Given the description of an element on the screen output the (x, y) to click on. 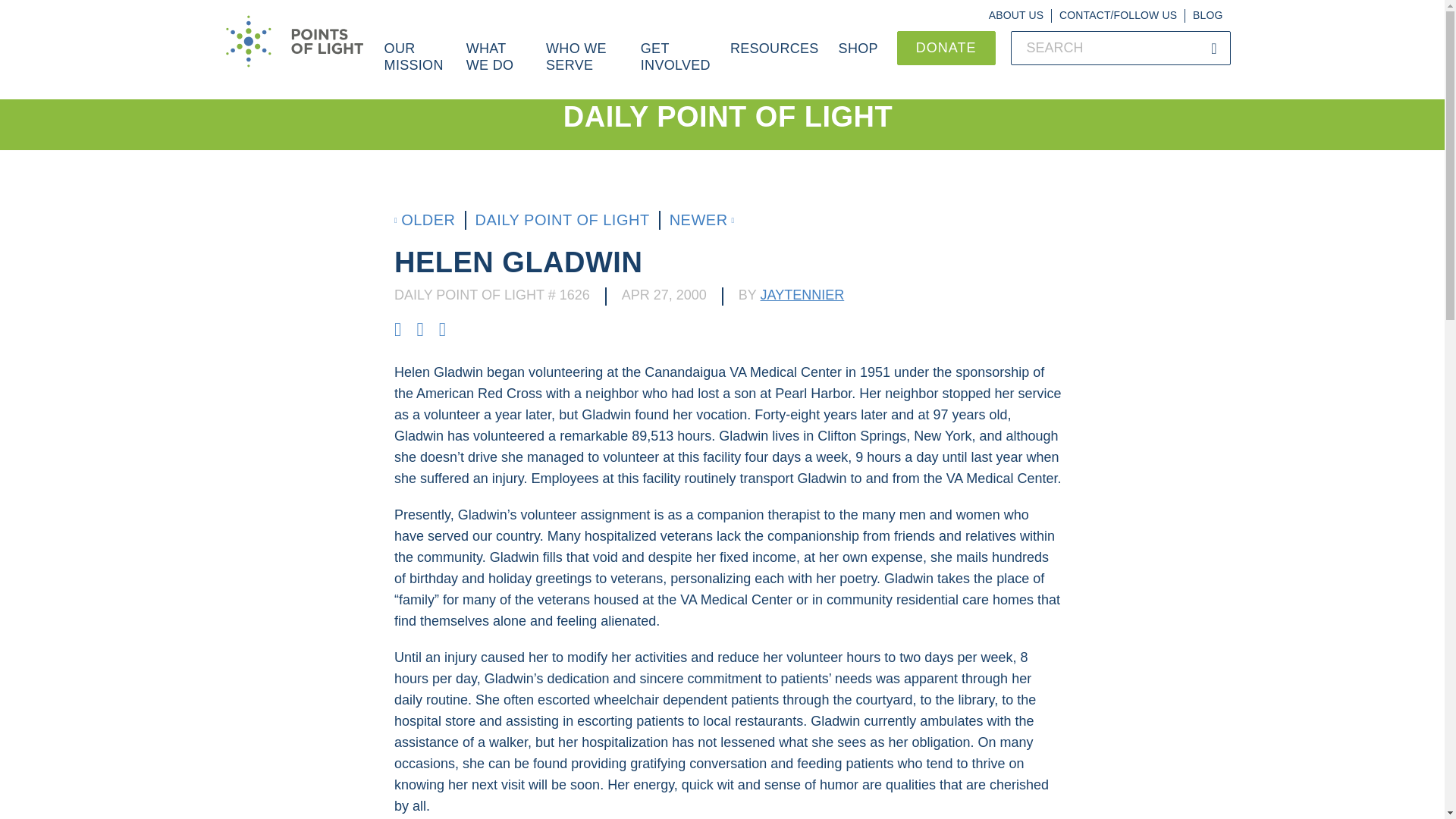
ABOUT US (1016, 15)
BLOG (1207, 15)
WHO WE SERVE (582, 65)
Click to share this post on Twitter (422, 329)
OUR MISSION (415, 65)
WHAT WE DO (496, 65)
